Given the description of an element on the screen output the (x, y) to click on. 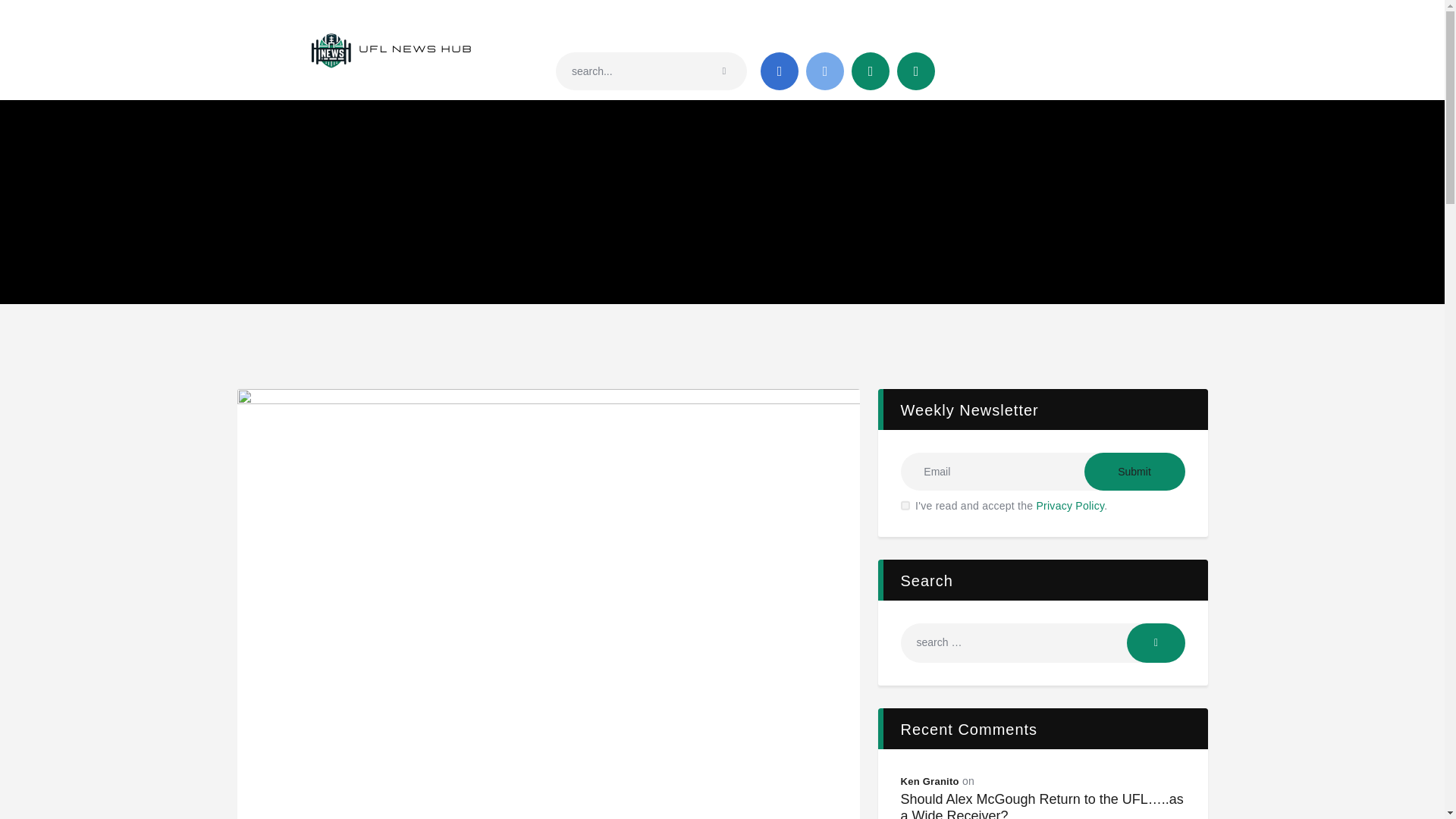
Submit (1134, 471)
Search (1155, 642)
Search (1155, 642)
1 (906, 495)
